Given the description of an element on the screen output the (x, y) to click on. 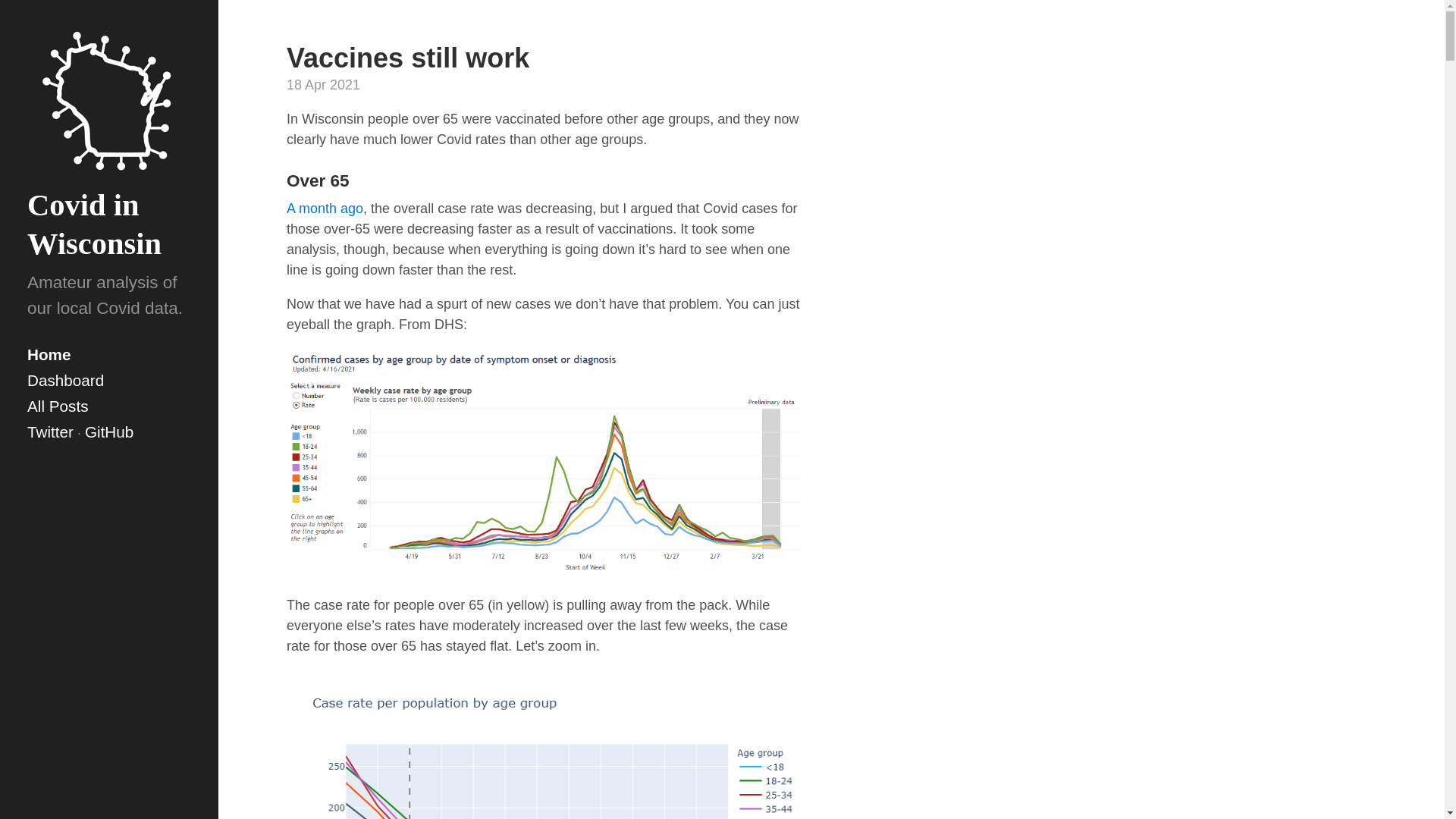
A month ago (324, 208)
GitHub (108, 431)
Covid in Wisconsin (94, 224)
Dashboard (108, 380)
Twitter (50, 431)
Home (108, 354)
Vaccines still work (407, 57)
All Posts (108, 406)
